Given the description of an element on the screen output the (x, y) to click on. 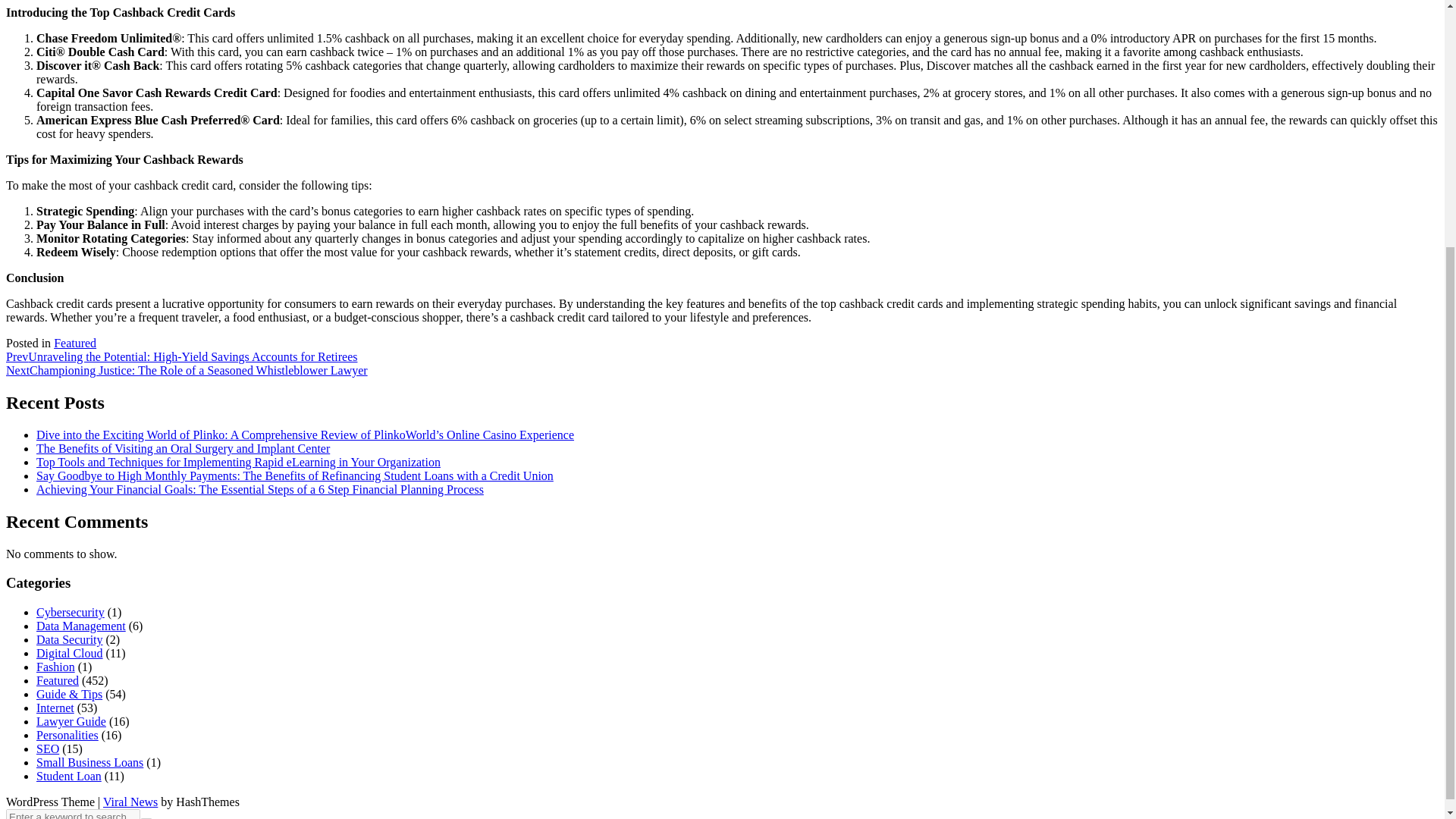
Digital Cloud (69, 653)
The Benefits of Visiting an Oral Surgery and Implant Center (183, 448)
Data Security (69, 639)
Internet (55, 707)
Small Business Loans (89, 762)
Viral News (130, 801)
Download Viral News (130, 801)
Cybersecurity (70, 612)
Featured (74, 342)
Featured (57, 680)
Lawyer Guide (71, 721)
SEO (47, 748)
